Given the description of an element on the screen output the (x, y) to click on. 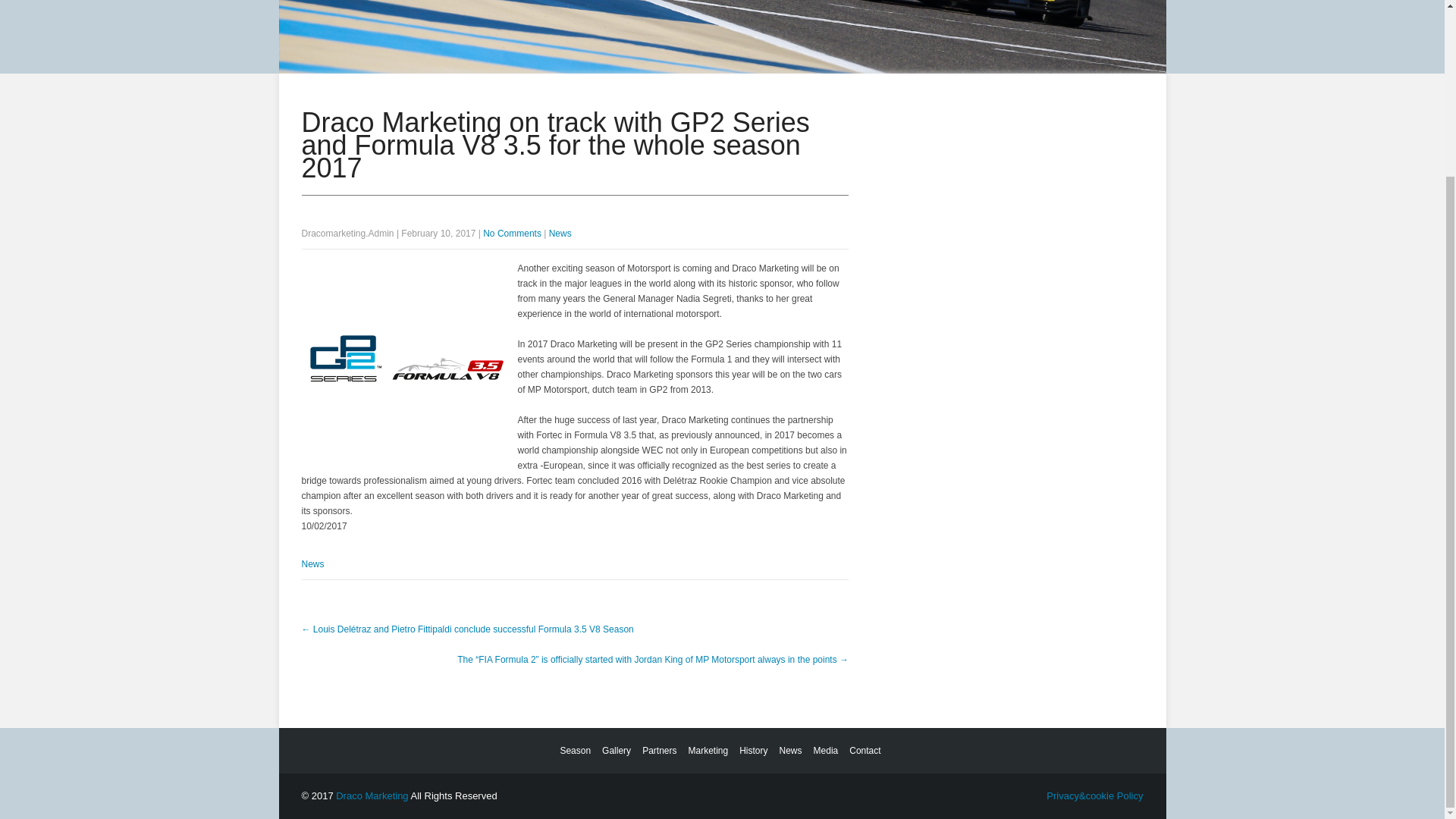
Season (573, 750)
News (560, 233)
News (312, 563)
View all posts in News (312, 563)
View all posts in News (560, 233)
No Comments (512, 233)
